Given the description of an element on the screen output the (x, y) to click on. 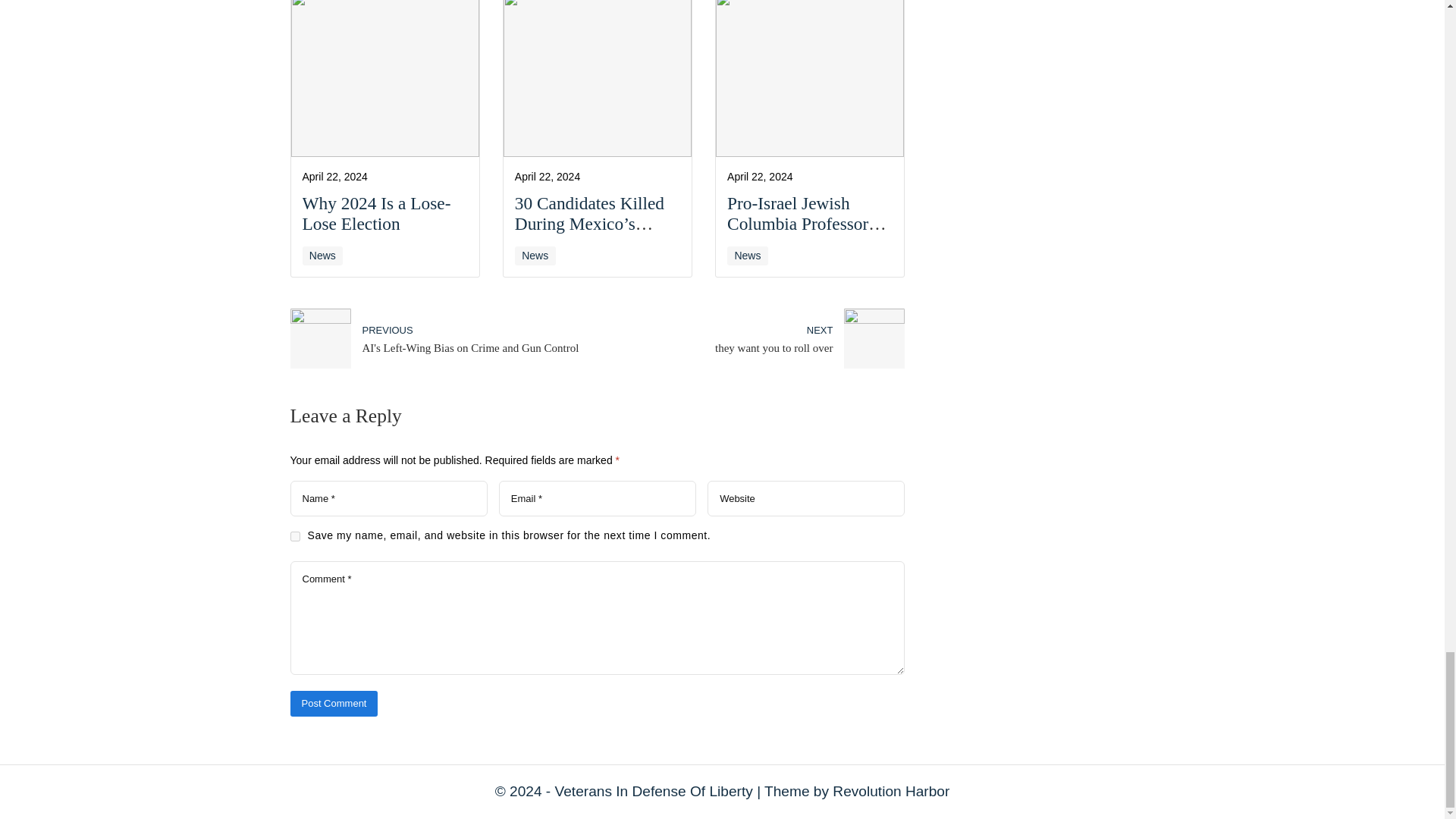
Post Comment (333, 703)
yes (294, 536)
